Given the description of an element on the screen output the (x, y) to click on. 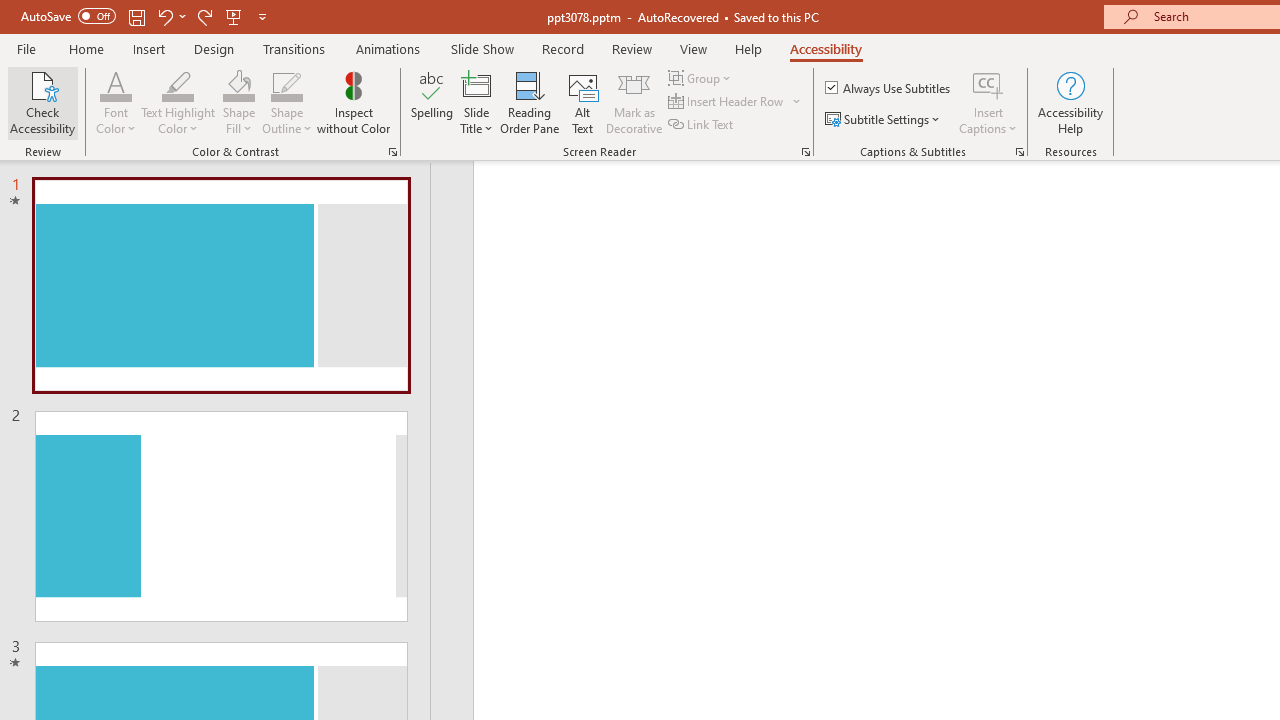
Screen Reader (805, 151)
Color & Contrast (392, 151)
Always Use Subtitles (889, 87)
